Given the description of an element on the screen output the (x, y) to click on. 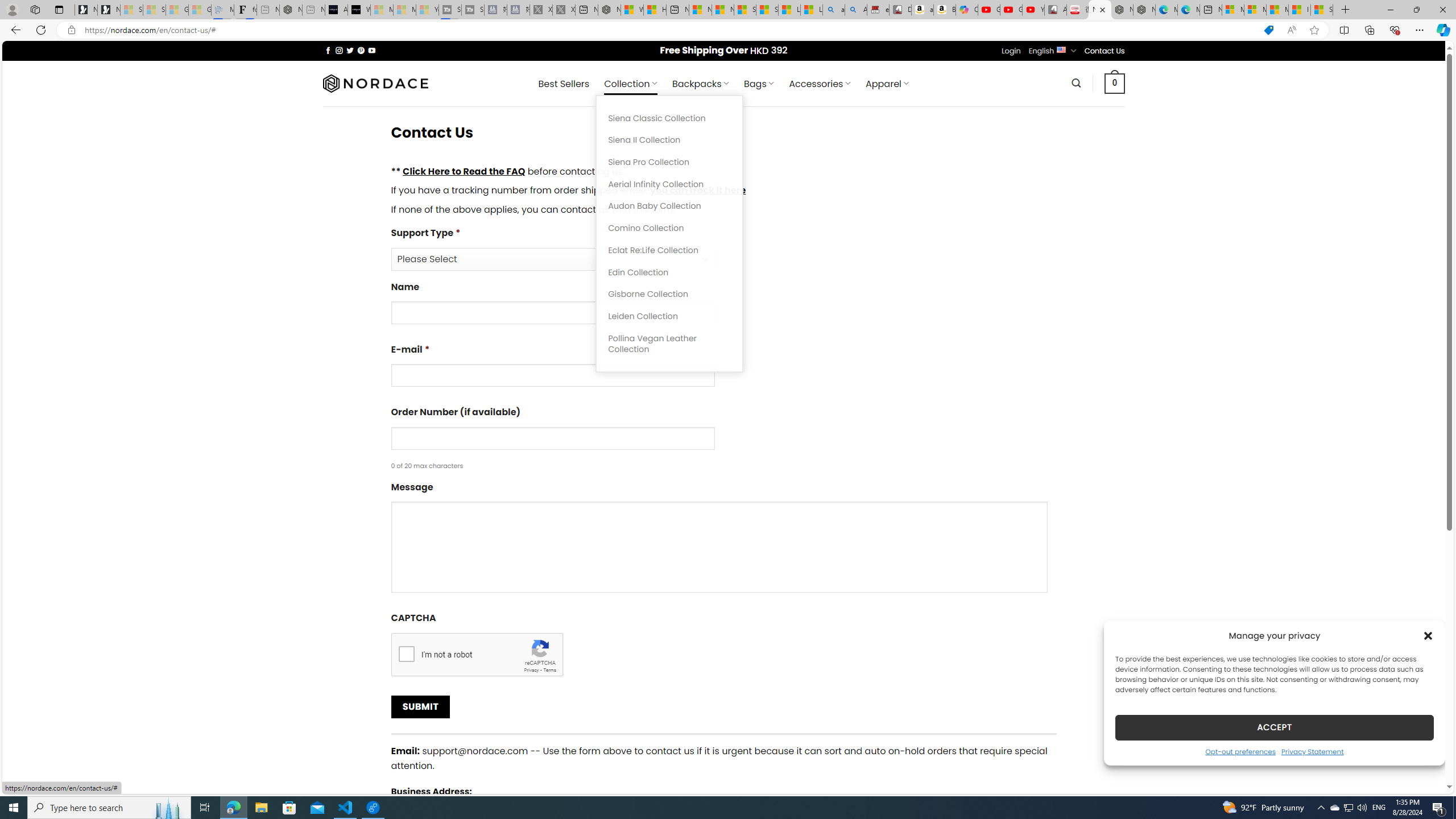
Order Number (if available) (552, 437)
Comino Collection (669, 228)
Siena Pro Collection (669, 162)
Aerial Infinity Collection (669, 183)
